Given the description of an element on the screen output the (x, y) to click on. 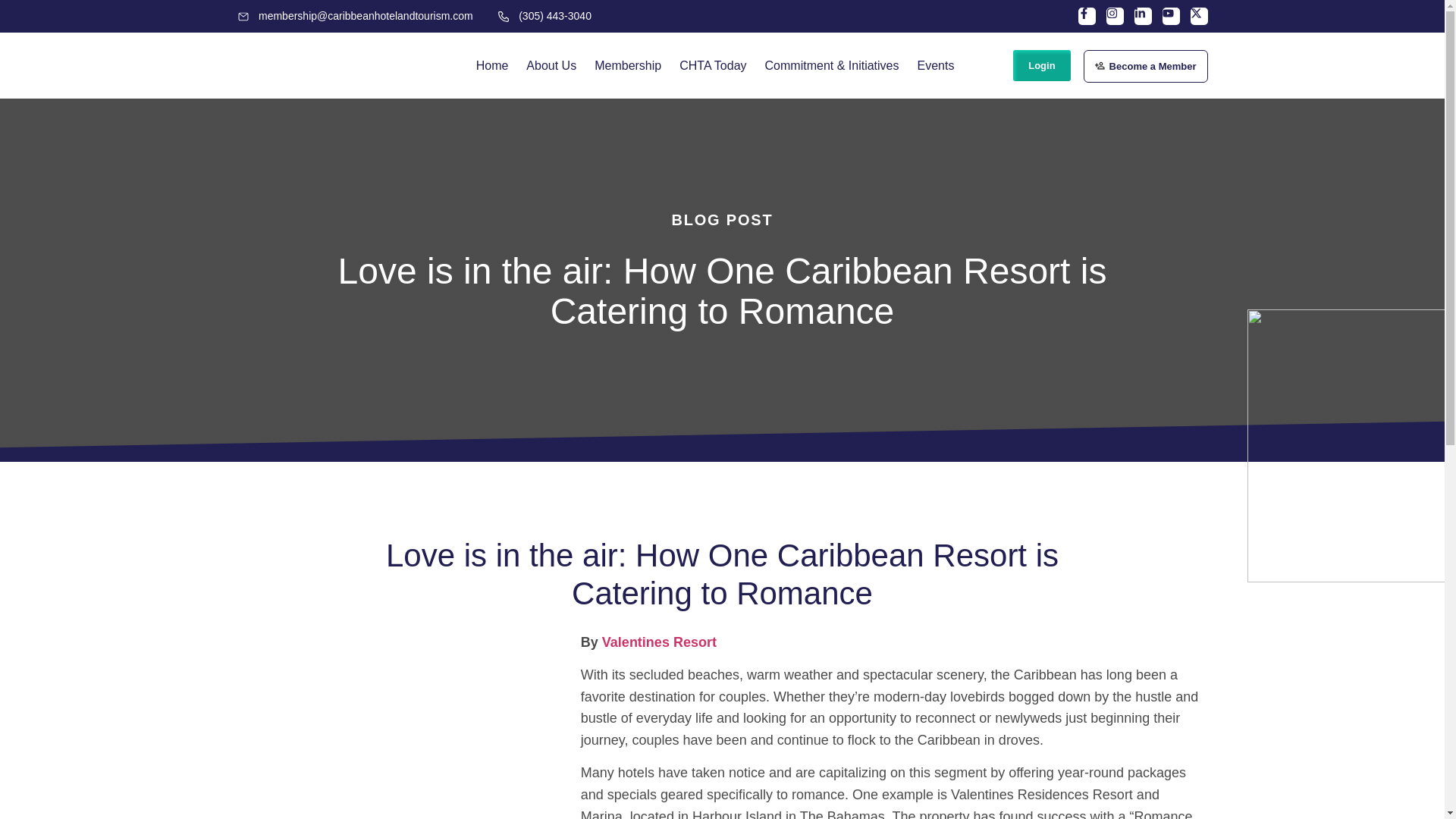
About Us (550, 65)
Events (934, 65)
Home (492, 65)
Membership (627, 65)
CHTA Today (712, 65)
